Given the description of an element on the screen output the (x, y) to click on. 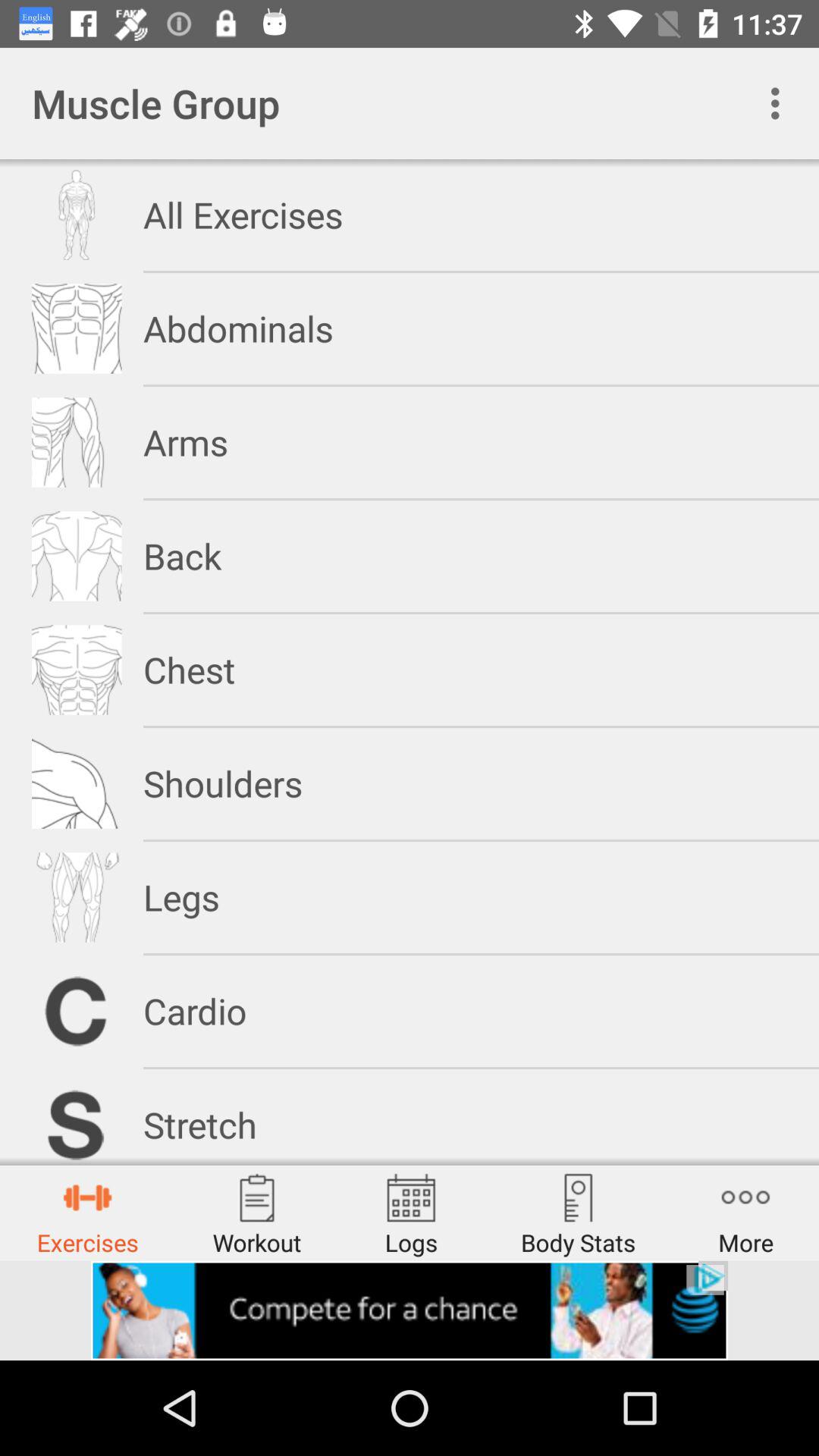
new advertisement open box (409, 1310)
